Given the description of an element on the screen output the (x, y) to click on. 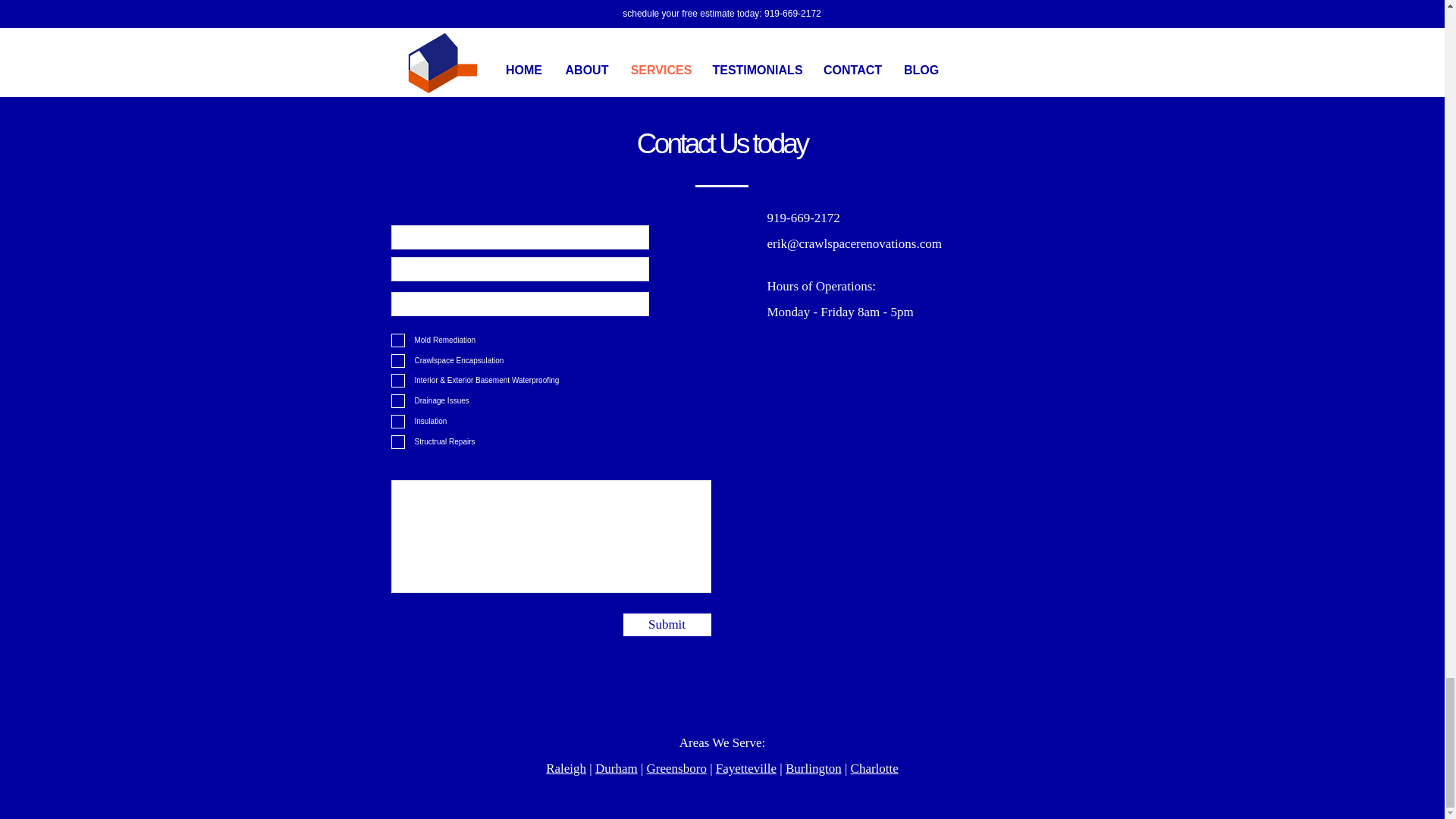
Burlington (813, 768)
Greensboro (676, 768)
Durham (616, 768)
Submit (667, 624)
Raleigh (566, 768)
Fayetteville (746, 768)
Charlotte (874, 768)
